Given the description of an element on the screen output the (x, y) to click on. 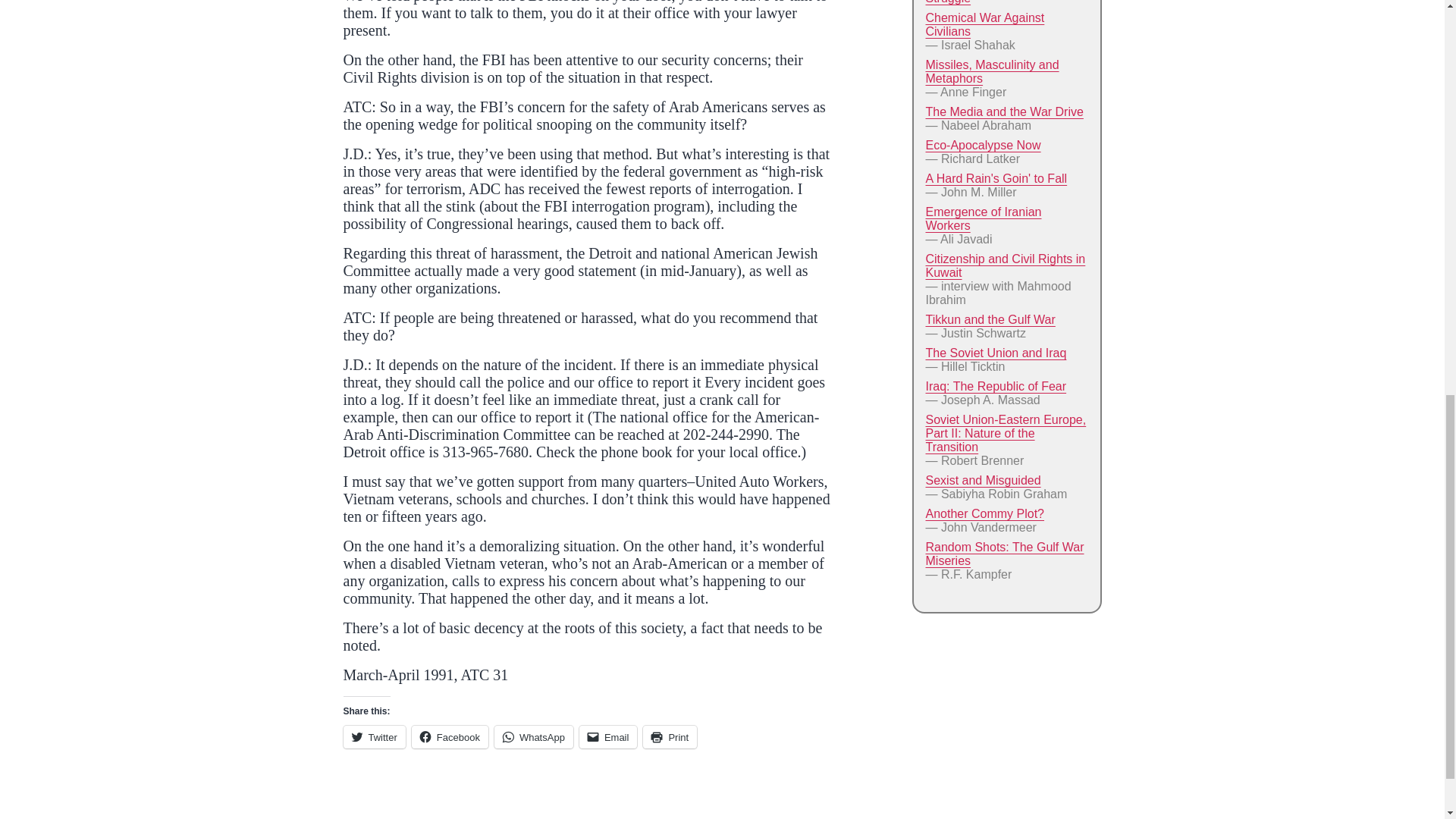
The Media and the War Drive (1003, 111)
Click to share on Facebook (449, 736)
Emergence of Iranian Workers (982, 218)
The Soviet Union and Iraq (994, 352)
Iraq: The Republic of Fear (994, 386)
The Intifada and Women's Struggle (994, 2)
A Hard Rain's Goin' to Fall (995, 178)
Chemical War Against Civilians (983, 24)
Click to share on WhatsApp (534, 736)
Eco-Apocalypse Now (982, 144)
